Given the description of an element on the screen output the (x, y) to click on. 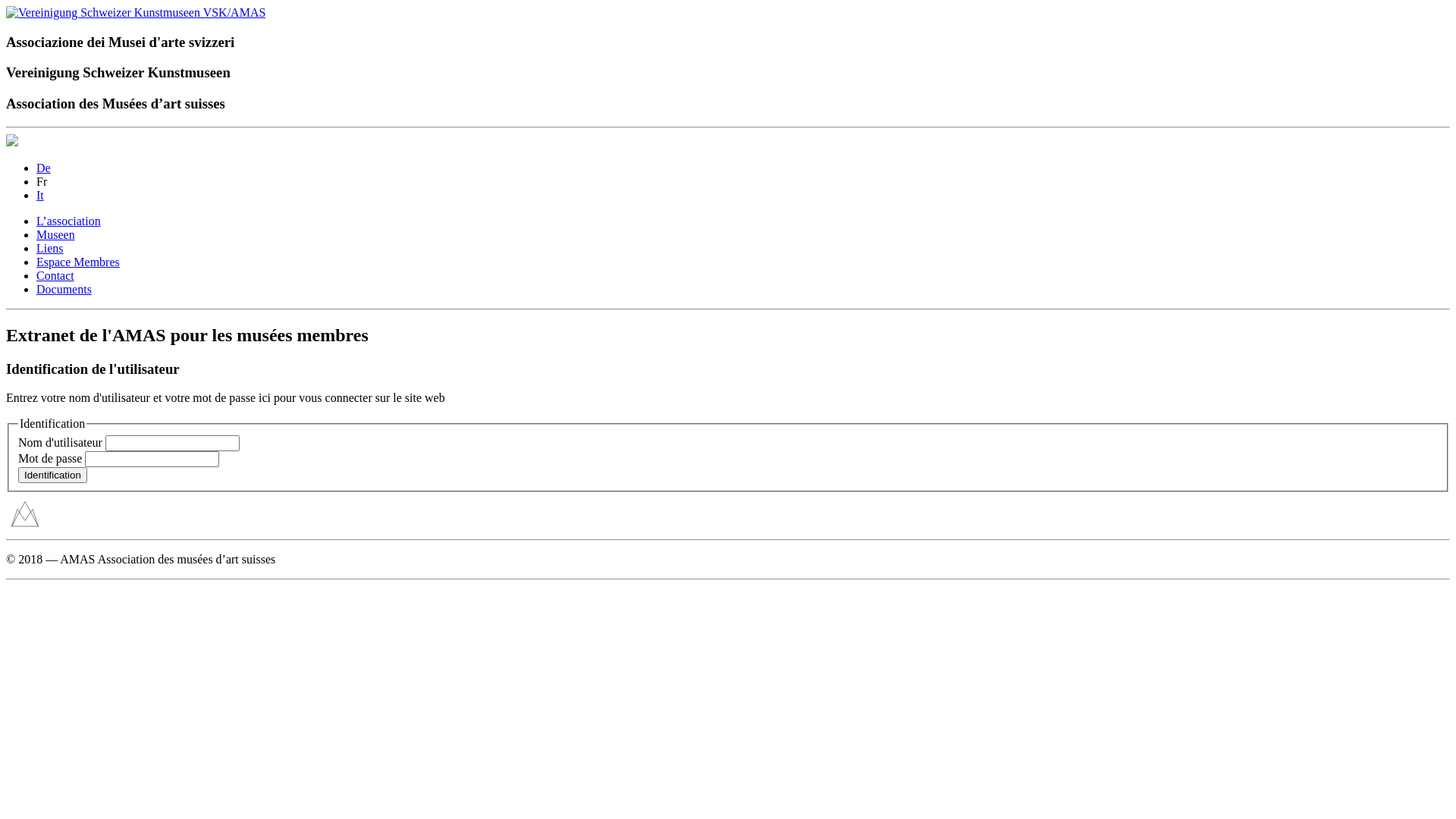
Espace Membres Element type: text (77, 261)
Museen Element type: text (55, 234)
Documents Element type: text (63, 288)
Liens Element type: text (49, 247)
De Element type: text (43, 167)
Contact Element type: text (55, 275)
Identification Element type: text (52, 475)
It Element type: text (39, 194)
